Given the description of an element on the screen output the (x, y) to click on. 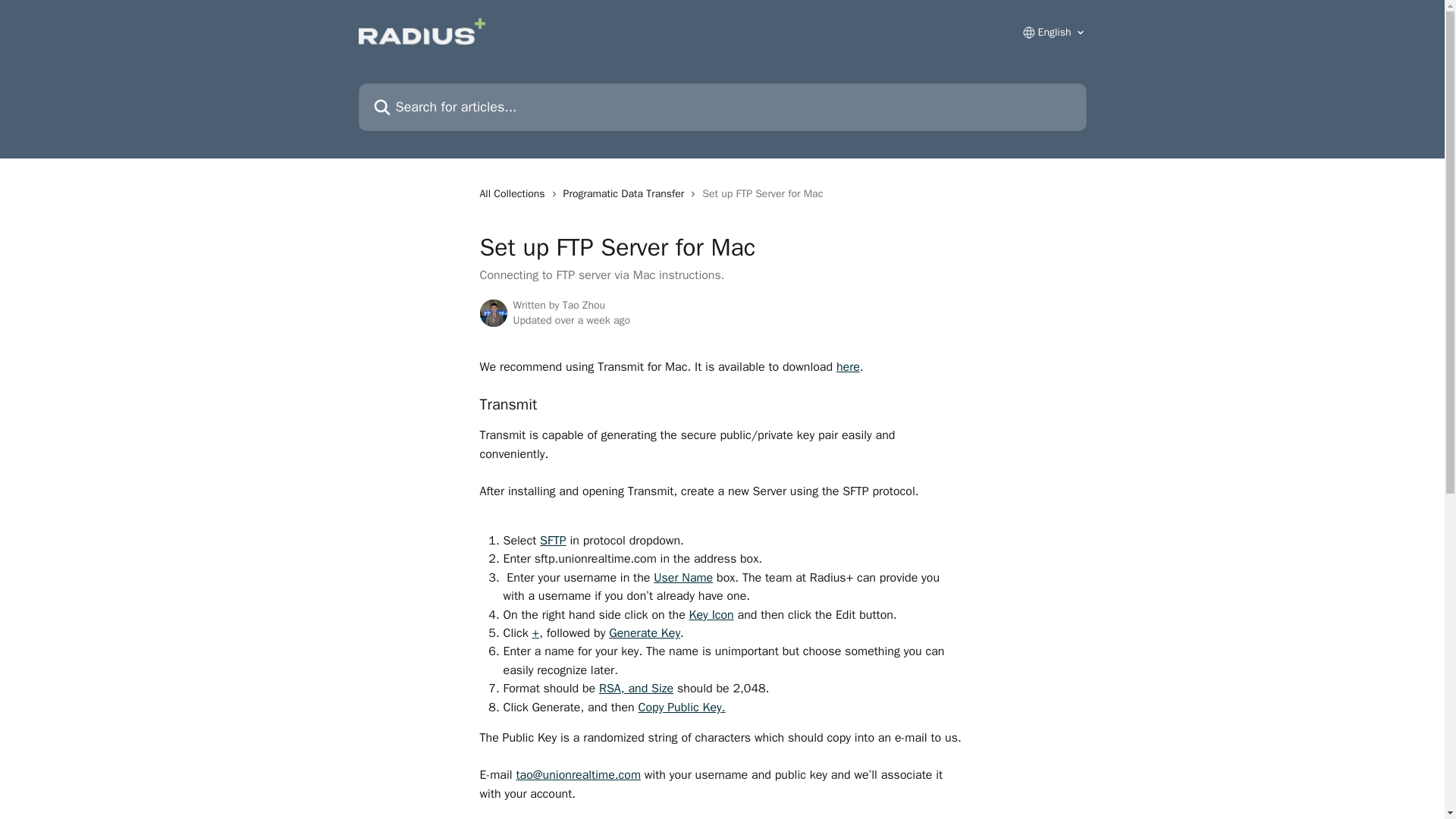
Key Icon (710, 598)
SFTP (553, 523)
, and Size (646, 671)
RSA (609, 671)
Programatic Data Transfer (626, 176)
Generate Key (643, 616)
User Name (683, 560)
Copy Public Key (678, 690)
here (847, 350)
